Given the description of an element on the screen output the (x, y) to click on. 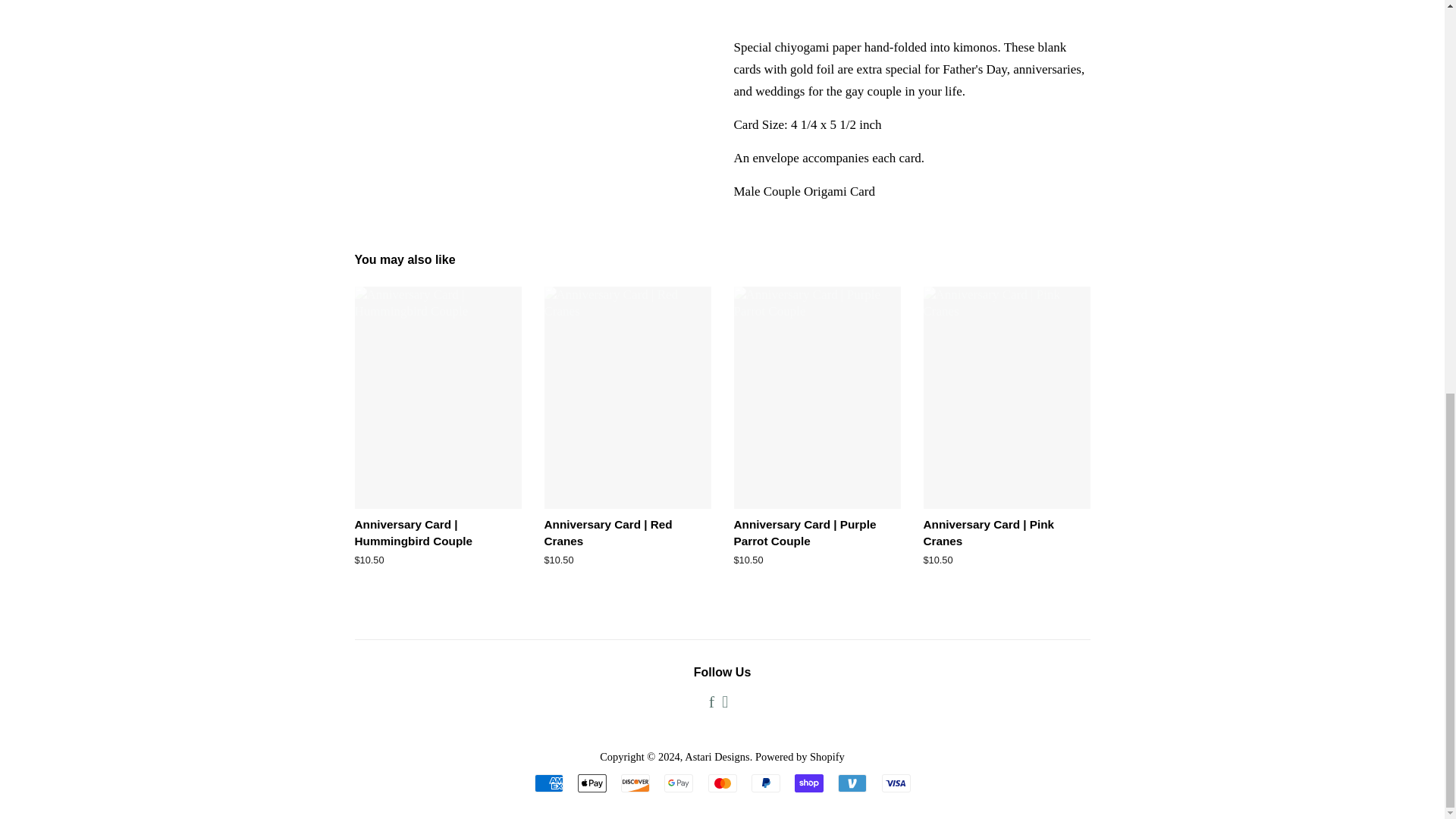
Venmo (852, 782)
American Express (548, 782)
Astari Designs (716, 756)
PayPal (765, 782)
Shop Pay (809, 782)
Google Pay (678, 782)
Visa (895, 782)
Powered by Shopify (799, 756)
Apple Pay (592, 782)
Mastercard (721, 782)
